Given the description of an element on the screen output the (x, y) to click on. 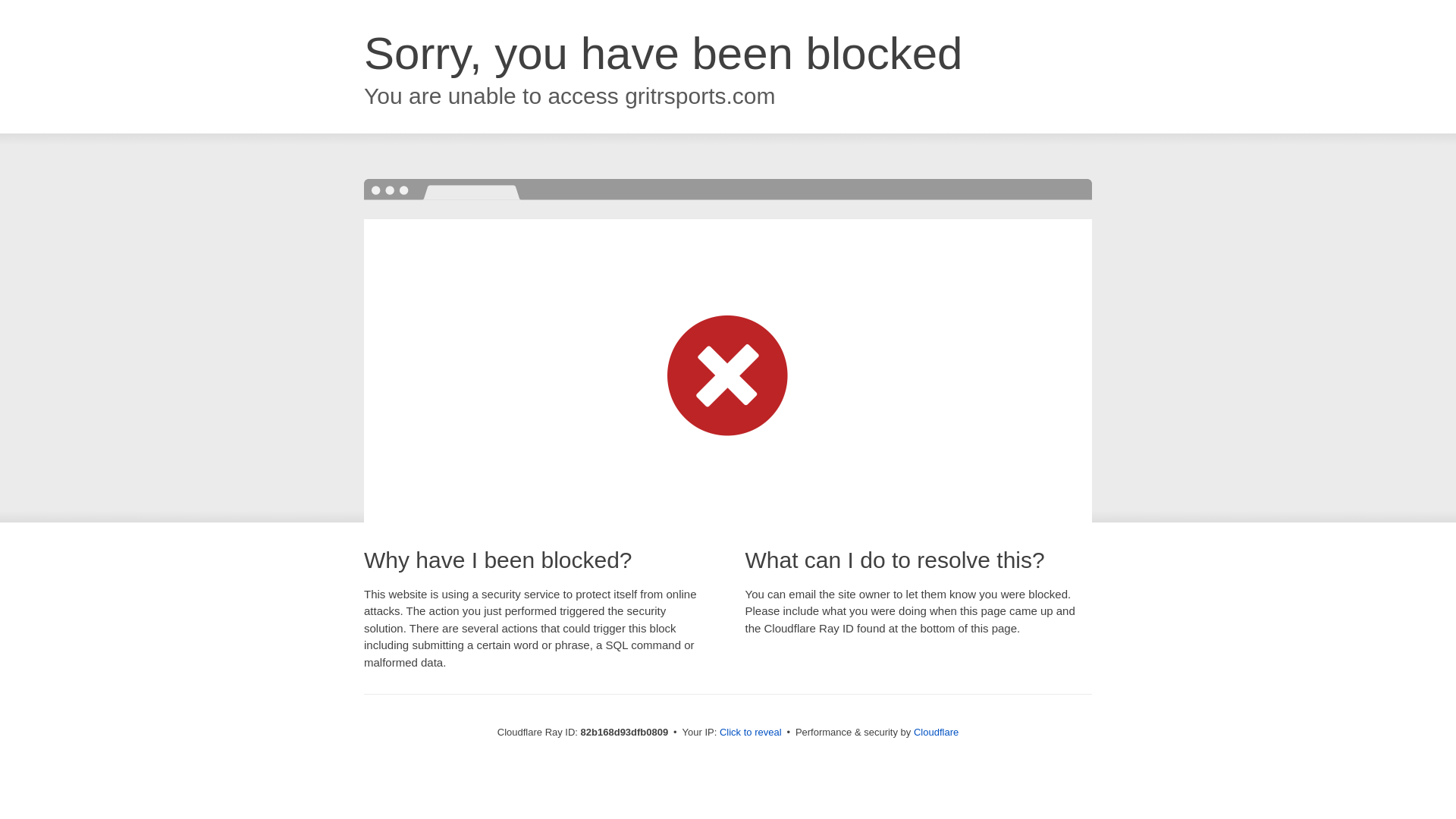
Click to reveal Element type: text (750, 732)
Cloudflare Element type: text (935, 731)
